Given the description of an element on the screen output the (x, y) to click on. 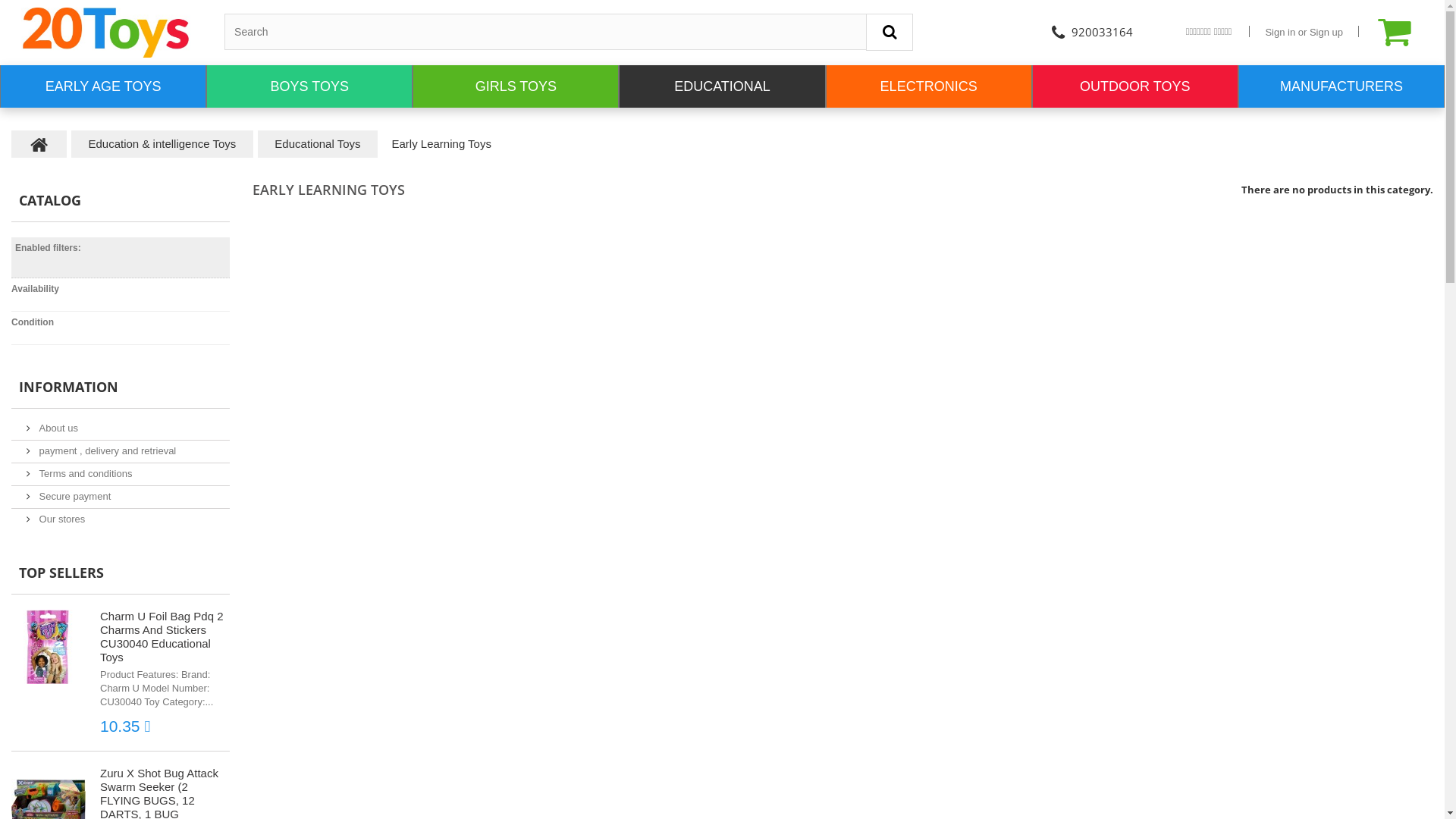
GIRLS TOYS Element type: text (515, 86)
BOYS TOYS Element type: text (309, 86)
payment , delivery and retrieval Element type: text (100, 450)
EARLY AGE TOYS Element type: text (103, 86)
920033164 Element type: text (1090, 31)
EDUCATIONAL Element type: text (721, 86)
Educational Toys Element type: text (317, 143)
About us Element type: text (52, 427)
Terms and conditions Element type: text (78, 473)
Return to Home Element type: hover (39, 143)
MANUFACTURERS Element type: text (1341, 86)
OUTDOOR TOYS Element type: text (1135, 86)
TOP SELLERS Element type: text (60, 572)
INFORMATION Element type: text (68, 386)
View my shopping cart Element type: hover (1407, 31)
ELECTRONICS Element type: text (928, 86)
20Toys Element type: hover (105, 32)
Education & intelligence Toys Element type: text (162, 143)
Secure payment Element type: text (68, 496)
Our stores Element type: text (55, 518)
Sign in or Sign up Element type: text (1303, 31)
